Given the description of an element on the screen output the (x, y) to click on. 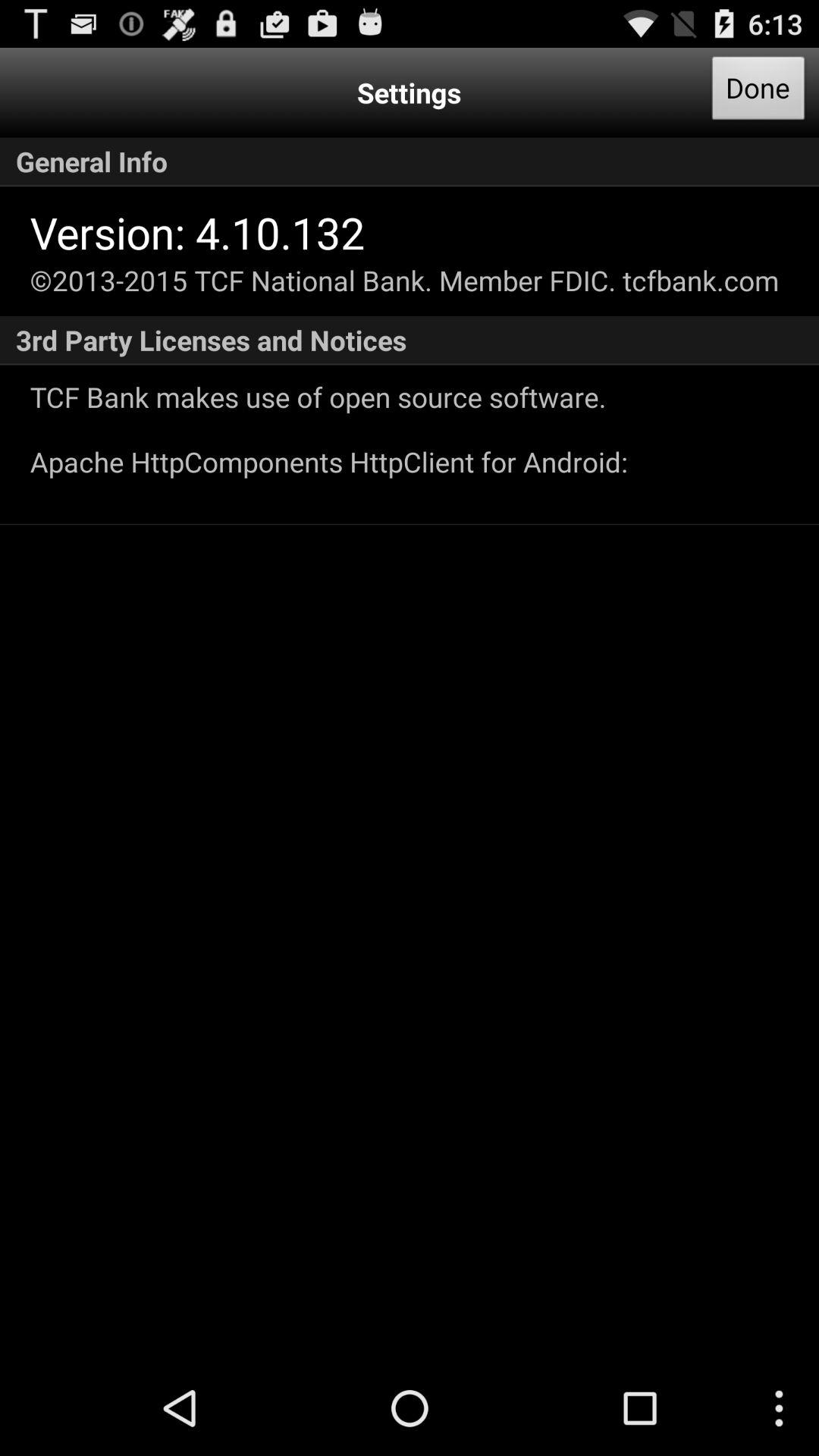
turn on item above 2013 2015 tcf (197, 232)
